Given the description of an element on the screen output the (x, y) to click on. 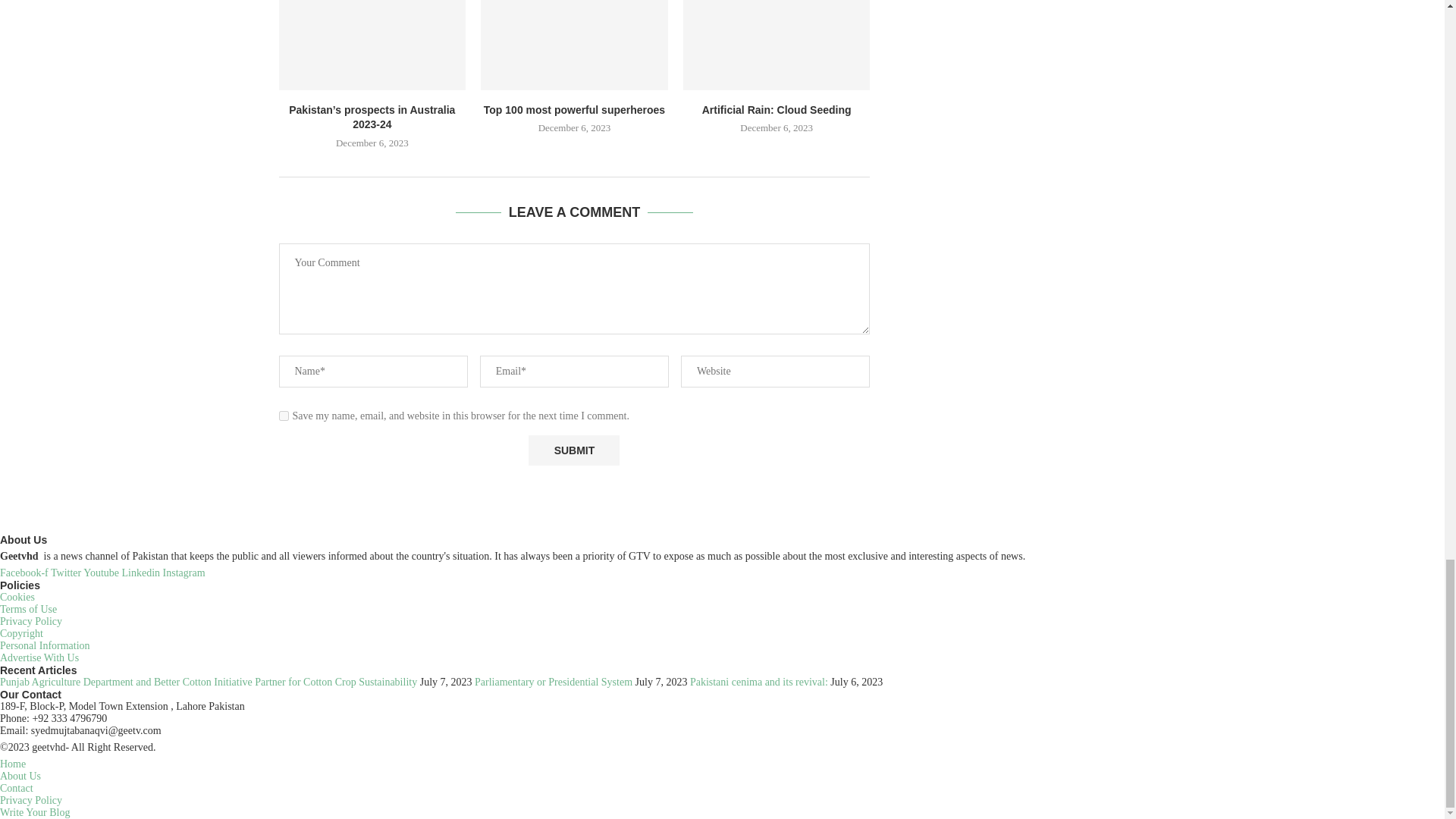
yes (283, 415)
Top 100 most powerful superheroes (574, 44)
Submit (574, 450)
Artificial Rain: Cloud Seeding (776, 44)
